Given the description of an element on the screen output the (x, y) to click on. 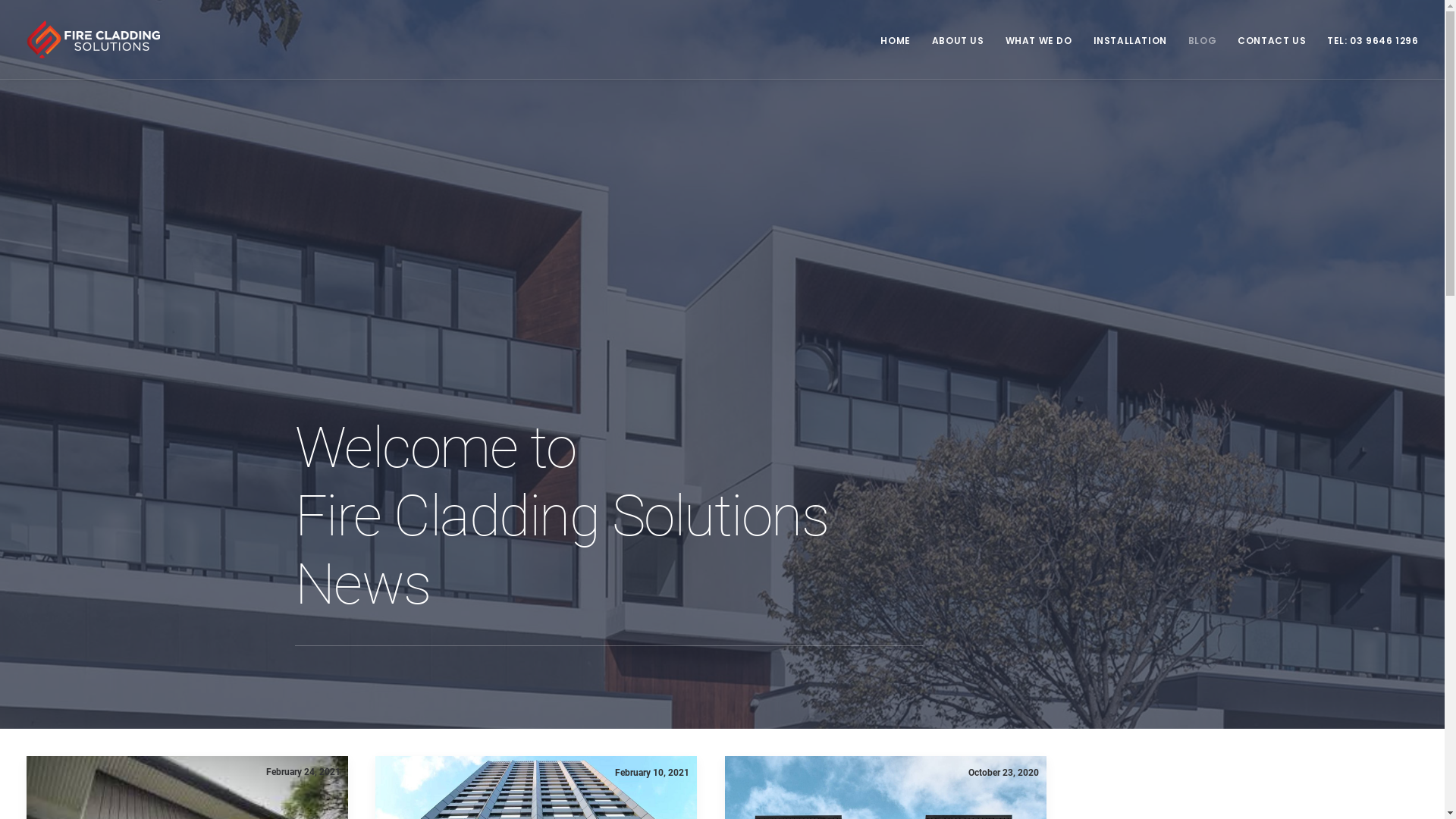
INSTALLATION Element type: text (1129, 39)
BLOG Element type: text (1201, 39)
CONTACT US Element type: text (1271, 39)
HOME Element type: text (900, 39)
TEL: 03 9646 1296 Element type: text (1367, 39)
WHAT WE DO Element type: text (1038, 39)
ABOUT US Element type: text (957, 39)
